Given the description of an element on the screen output the (x, y) to click on. 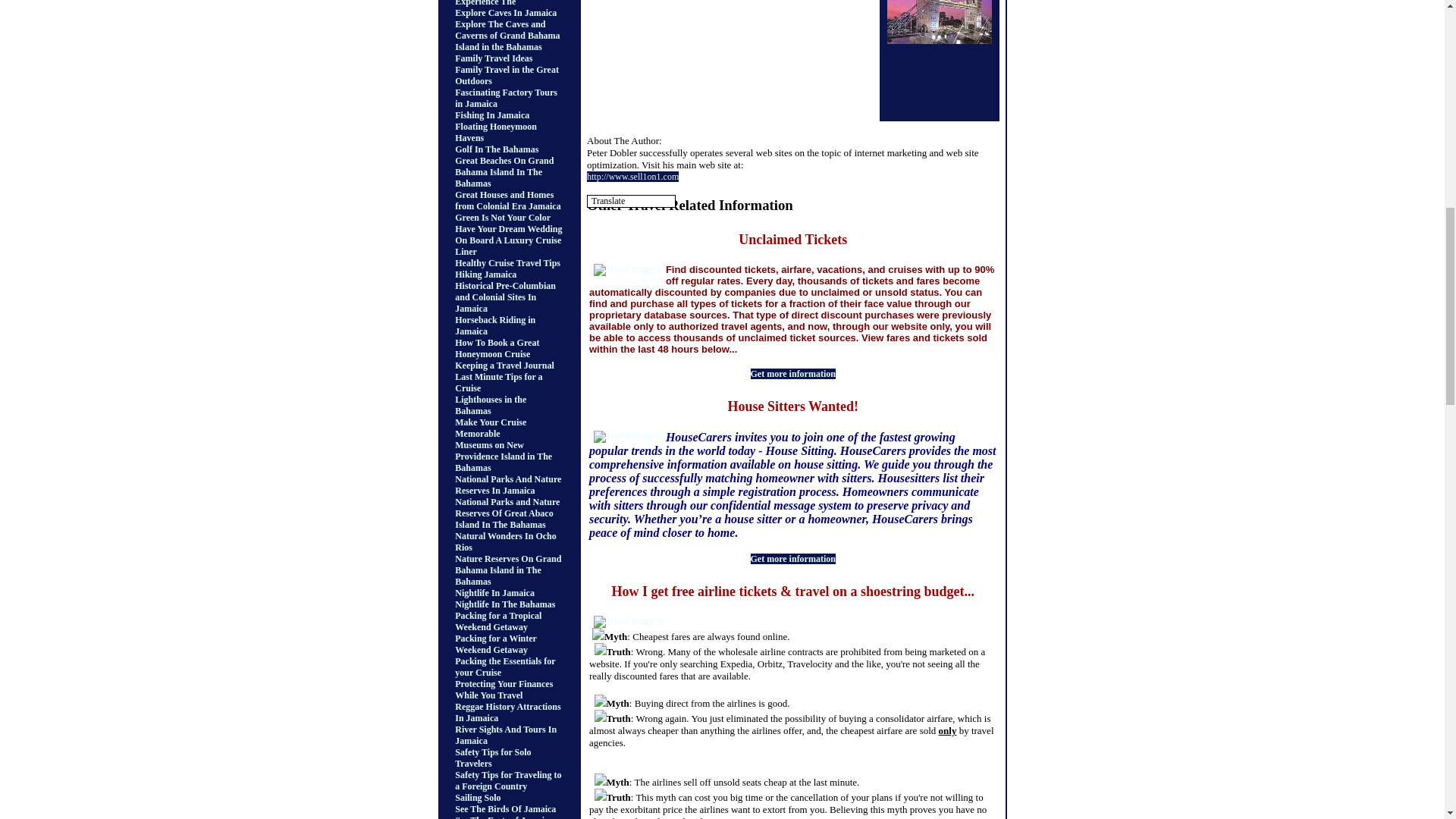
Get more information (793, 373)
Get more information (793, 558)
